Given the description of an element on the screen output the (x, y) to click on. 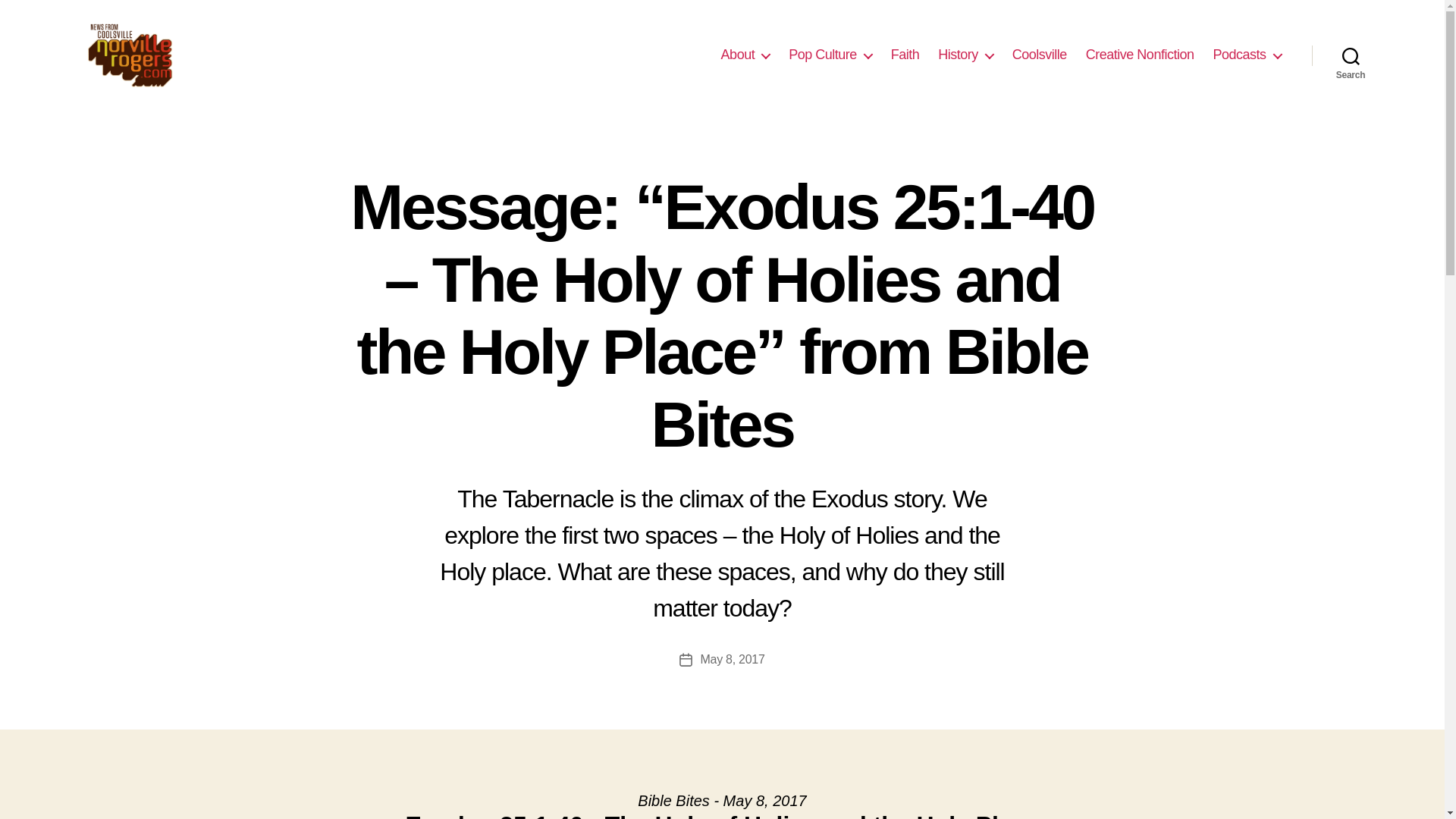
About (745, 54)
Faith (905, 54)
Coolsville (1039, 54)
Podcasts (1246, 54)
Pop Culture (830, 54)
History (964, 54)
Search (1350, 55)
Creative Nonfiction (1139, 54)
